Given the description of an element on the screen output the (x, y) to click on. 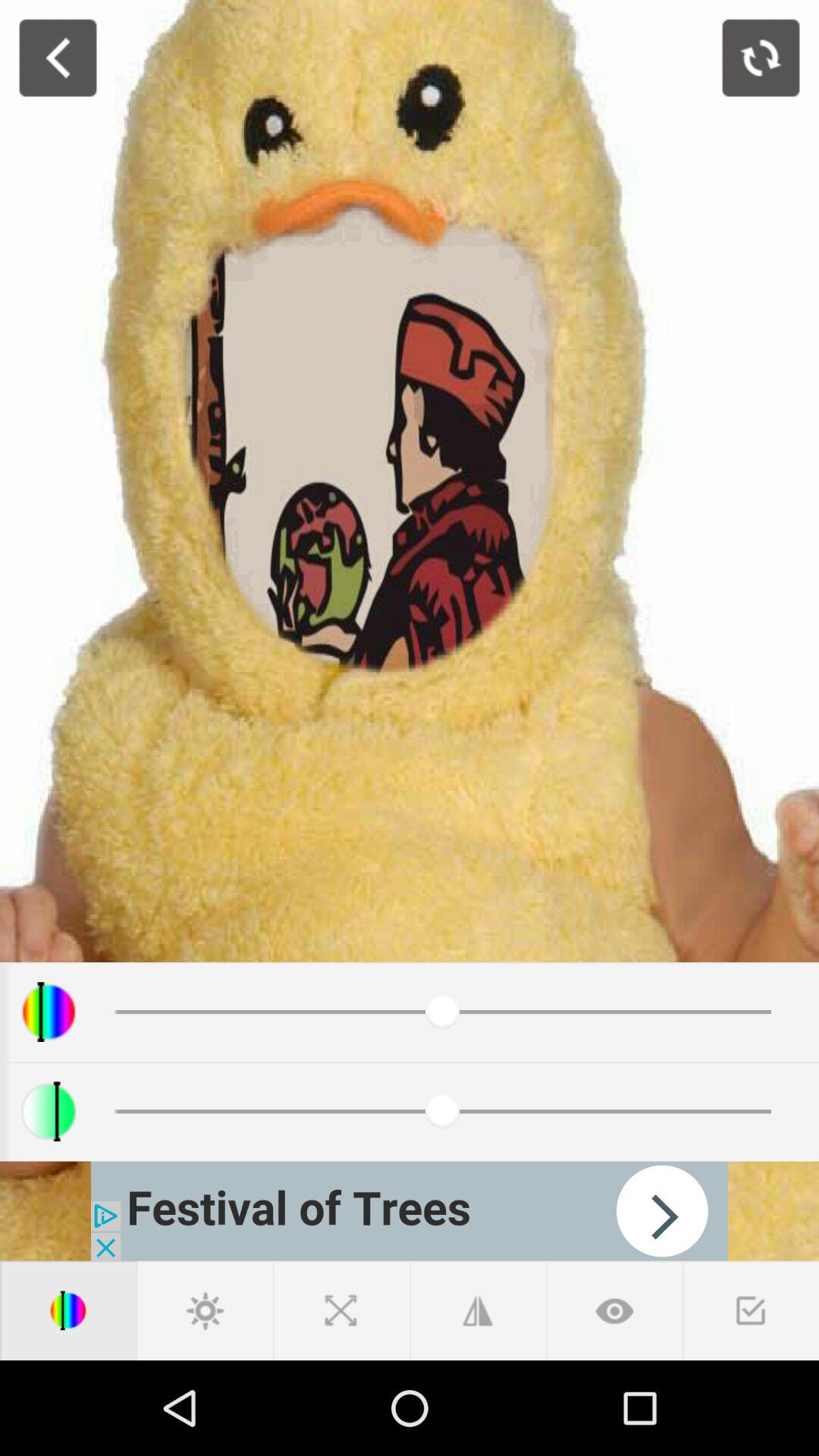
vidio watch button (614, 1310)
